Given the description of an element on the screen output the (x, y) to click on. 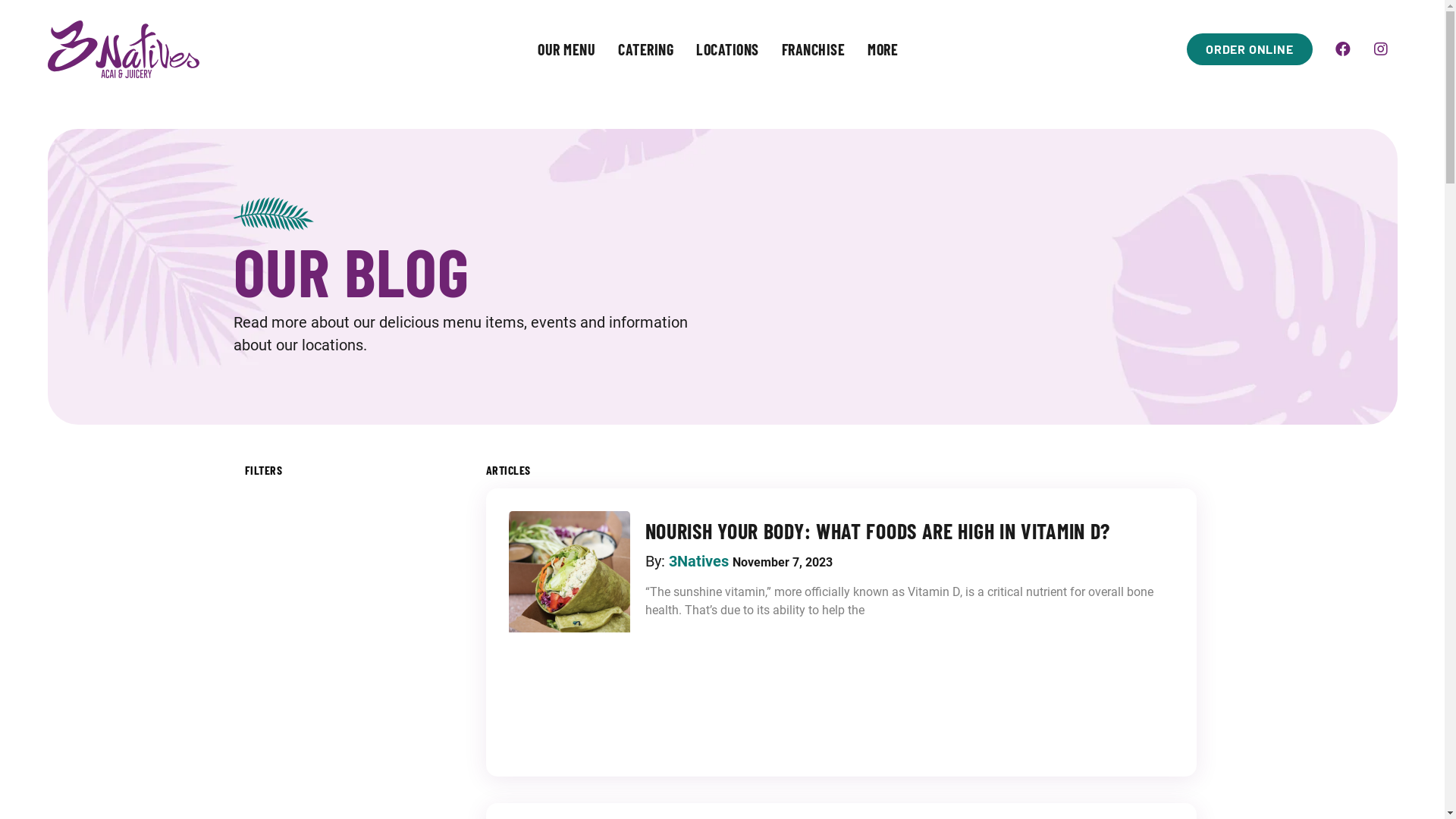
NOURISH YOUR BODY: WHAT FOODS ARE HIGH IN VITAMIN D? Element type: text (877, 530)
ORDER ONLINE Element type: text (1249, 49)
MORE Element type: text (882, 49)
FRANCHISE Element type: text (813, 49)
OUR MENU Element type: text (566, 49)
CATERING Element type: text (645, 49)
LOCATIONS Element type: text (727, 49)
